Given the description of an element on the screen output the (x, y) to click on. 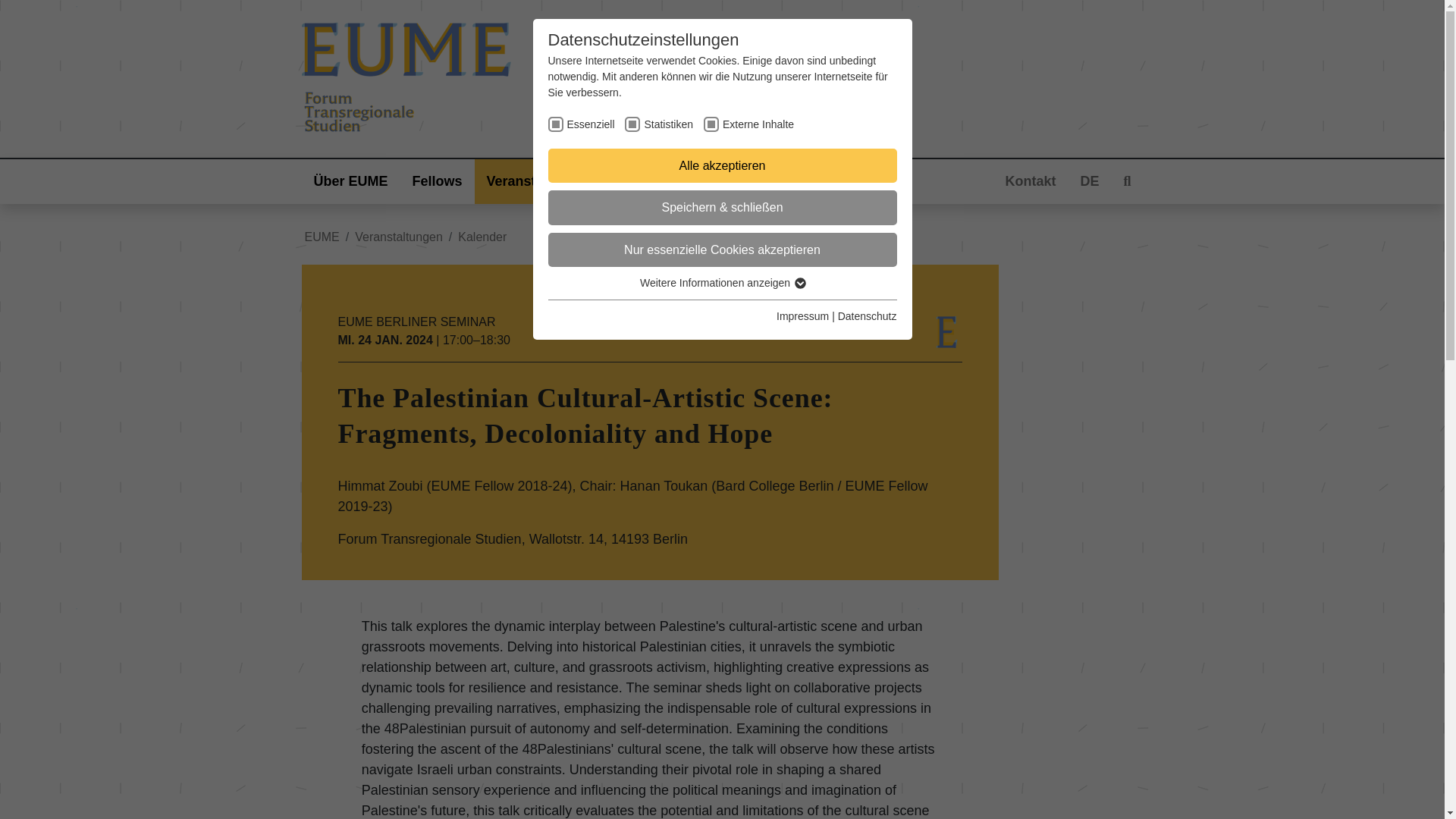
Startseite (627, 77)
